Given the description of an element on the screen output the (x, y) to click on. 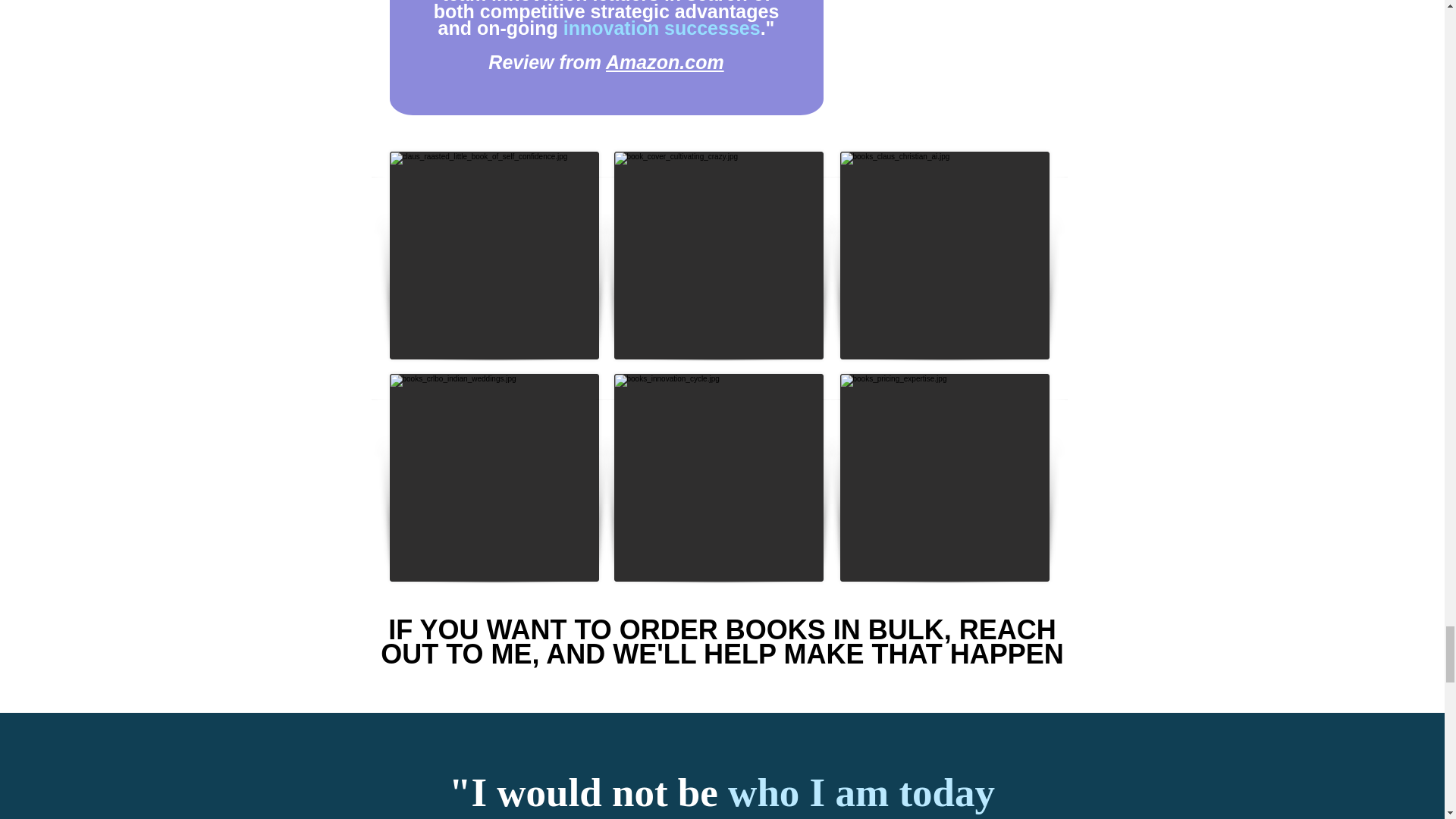
Amazon.com (664, 61)
